Given the description of an element on the screen output the (x, y) to click on. 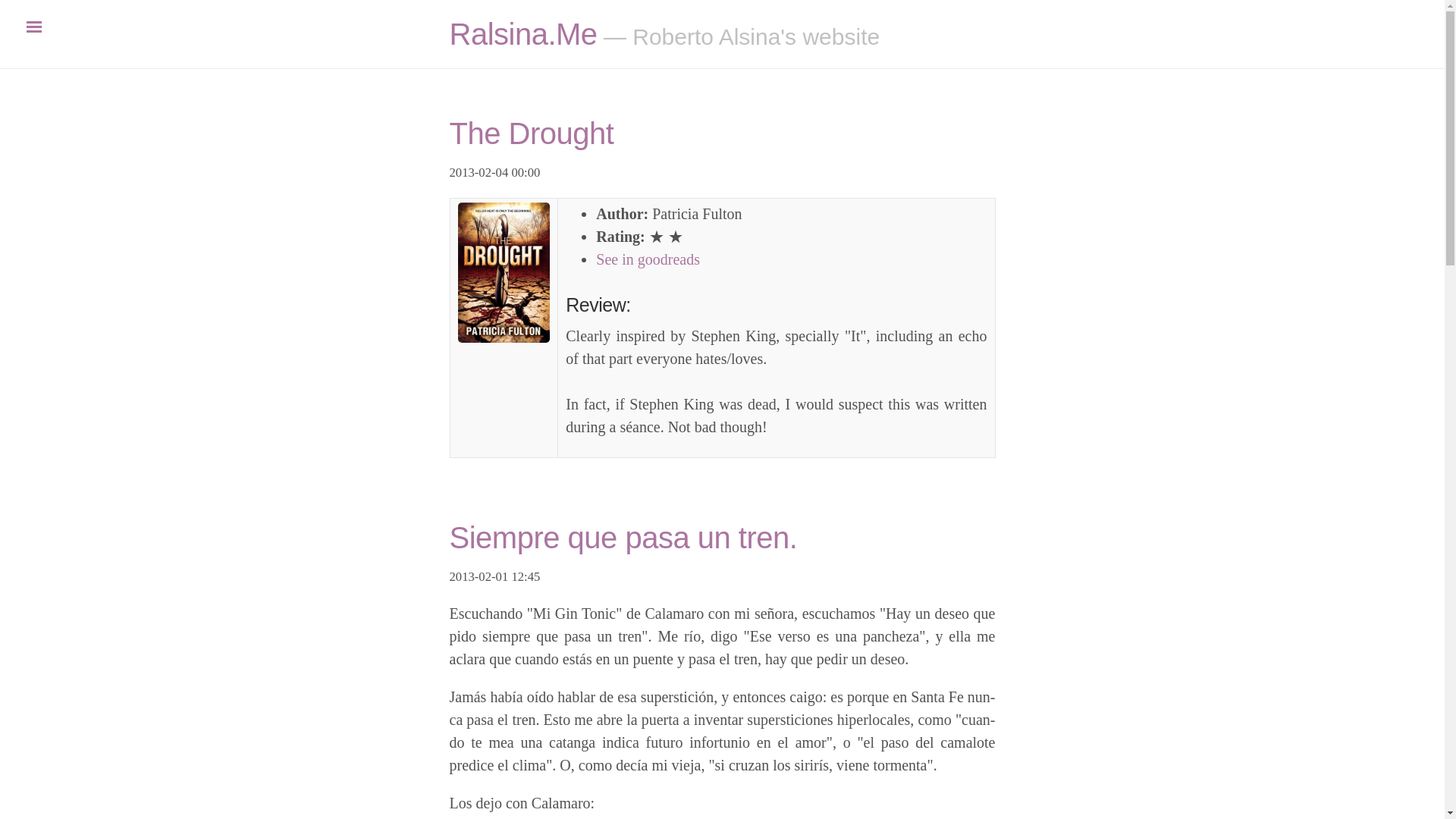
Siempre que pasa un tren. (622, 537)
See in goodreads (647, 258)
Ralsina.Me (522, 33)
The Drought (530, 133)
Ralsina.Me (522, 33)
